Given the description of an element on the screen output the (x, y) to click on. 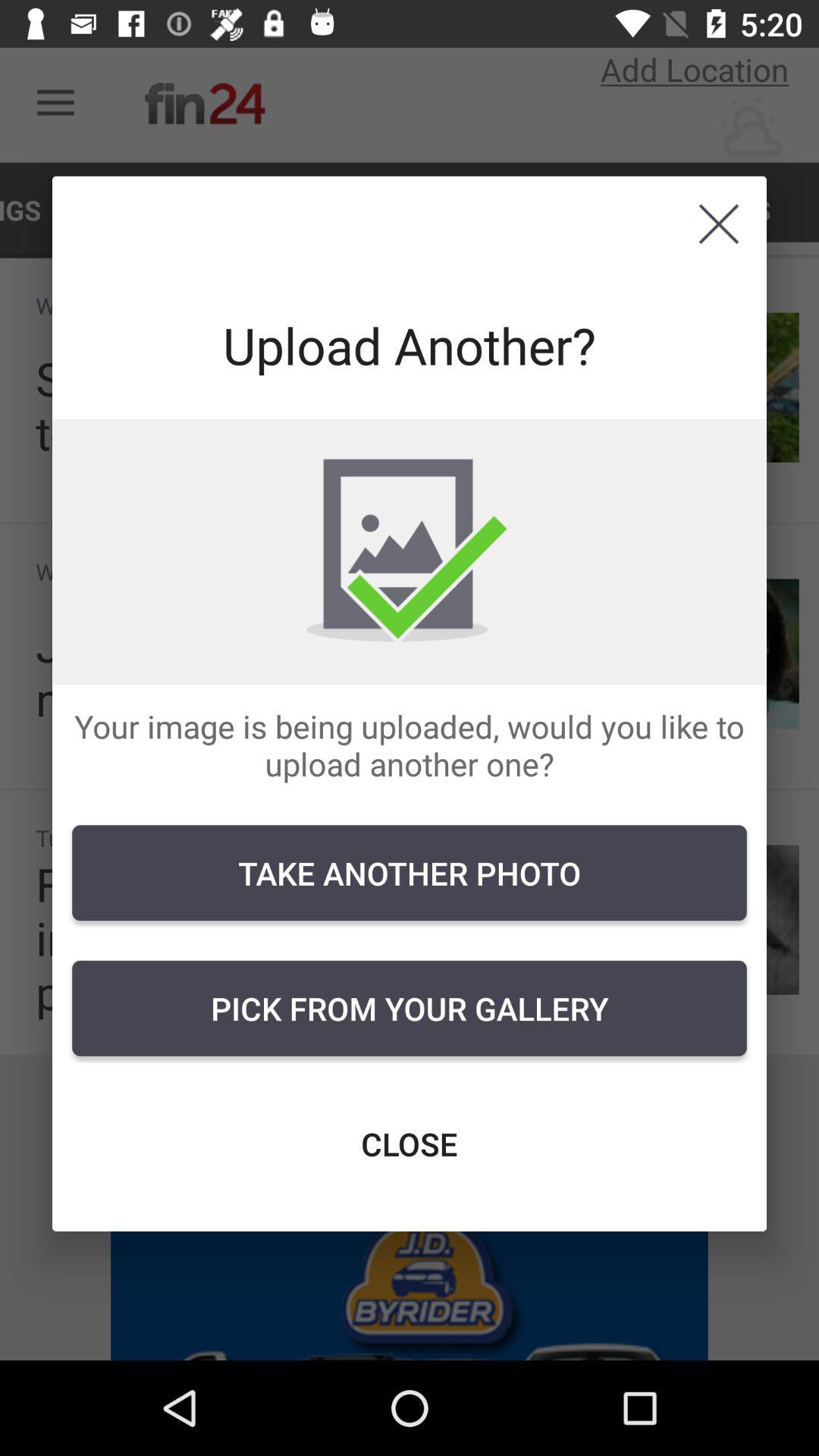
press icon above pick from your icon (409, 872)
